Given the description of an element on the screen output the (x, y) to click on. 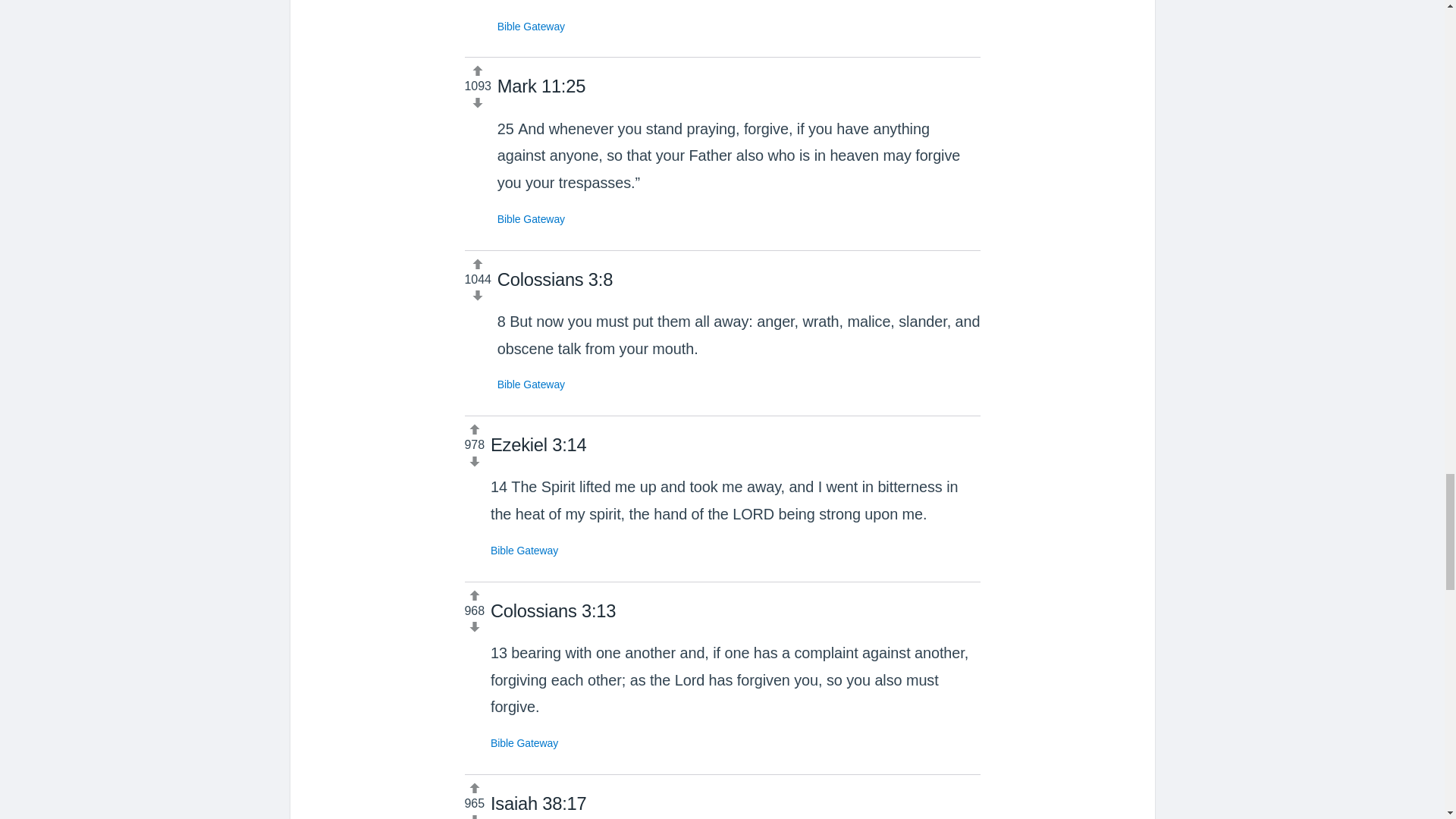
Bible Gateway (523, 550)
Bible Gateway (530, 384)
Bible Gateway (523, 743)
Bible Gateway (530, 218)
Bible Gateway (530, 26)
